Given the description of an element on the screen output the (x, y) to click on. 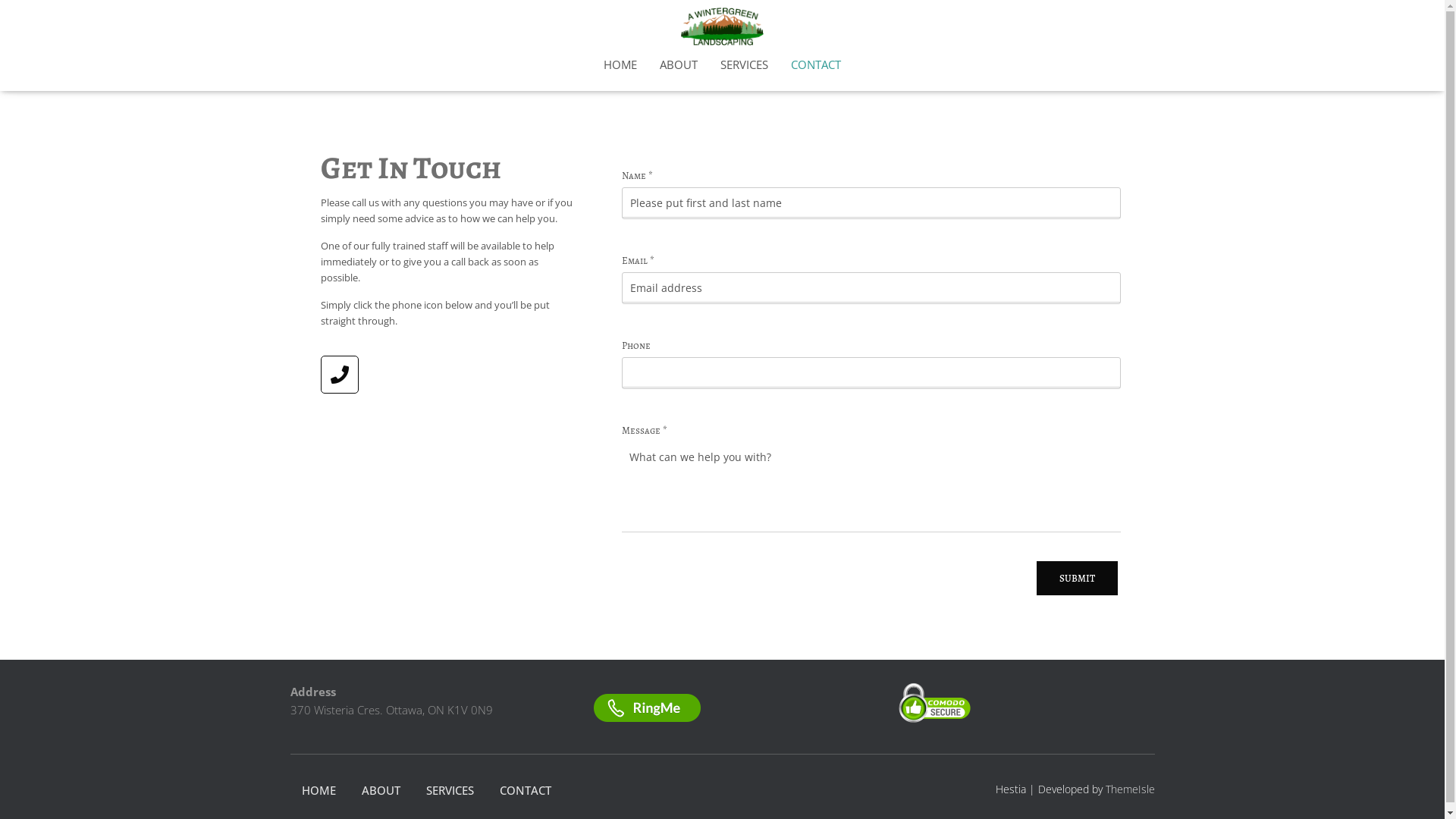
SERVICES Element type: text (744, 64)
CONTACT Element type: text (815, 64)
ABOUT Element type: text (380, 789)
CONTACT Element type: text (525, 789)
SUBMIT Element type: text (1077, 577)
ABOUT Element type: text (678, 64)
HOME Element type: text (317, 789)
A Wintergreen Landscaping Element type: hover (721, 26)
SERVICES Element type: text (449, 789)
HOME Element type: text (620, 64)
ThemeIsle Element type: text (1129, 788)
